Given the description of an element on the screen output the (x, y) to click on. 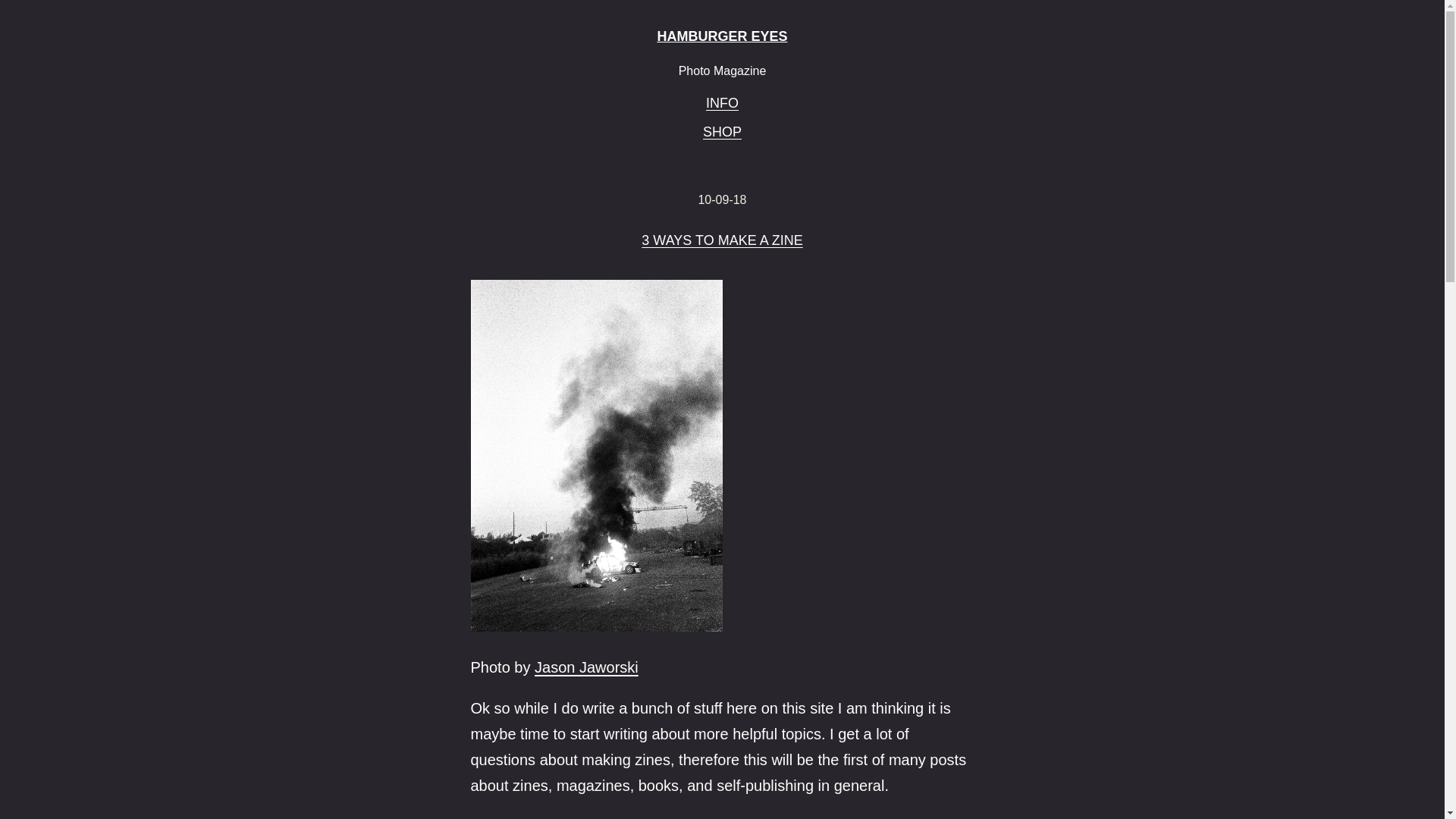
SHOP (722, 131)
HAMBURGER EYES (721, 36)
Jason Jaworski (586, 667)
3 WAYS TO MAKE A ZINE (722, 240)
INFO (722, 102)
